Given the description of an element on the screen output the (x, y) to click on. 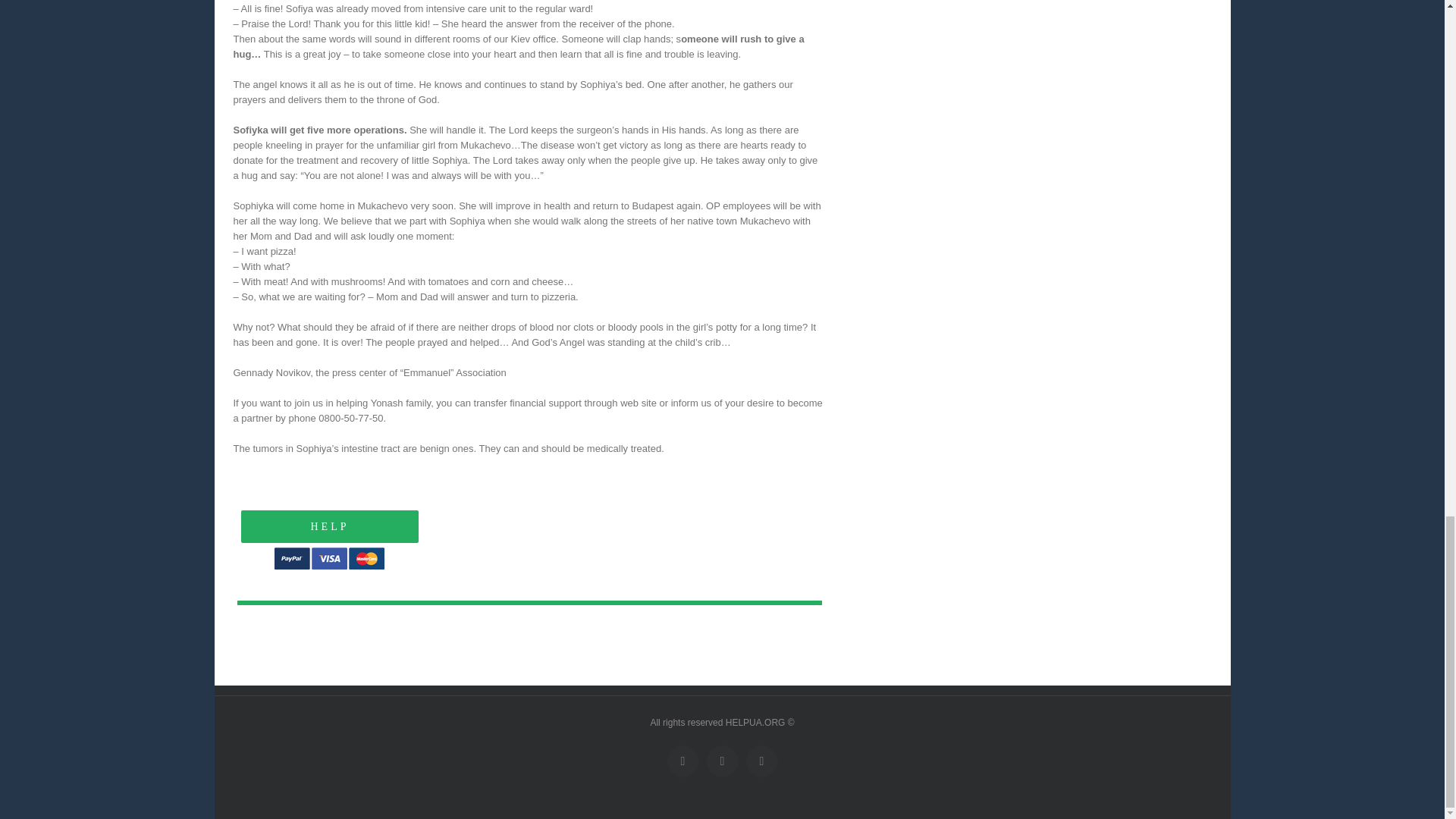
HELP (529, 547)
facebook (682, 761)
facebook (682, 761)
twitter (722, 761)
twitter (722, 761)
instagram (761, 761)
instagram (761, 761)
HELP (330, 526)
